Given the description of an element on the screen output the (x, y) to click on. 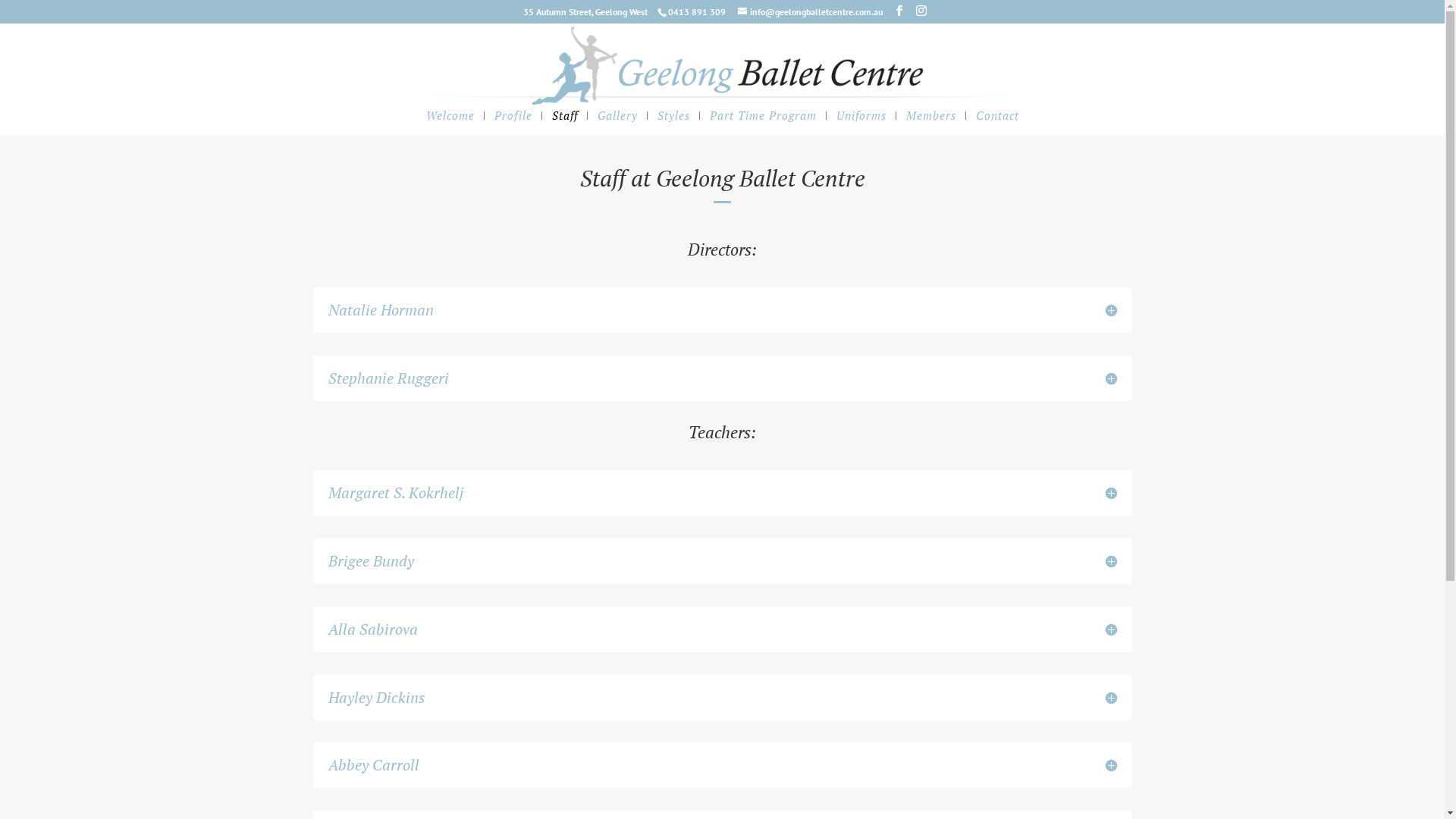
0413 891 309 Element type: text (696, 11)
Members Element type: text (930, 122)
info@geelongballetcentre.com.au Element type: text (809, 11)
Styles Element type: text (672, 122)
35 Autumn Street, Geelong West Element type: text (585, 11)
Welcome Element type: text (450, 122)
Part Time Program Element type: text (762, 122)
Profile Element type: text (513, 122)
Gallery Element type: text (617, 122)
Uniforms Element type: text (860, 122)
Contact Element type: text (996, 122)
Staff Element type: text (564, 122)
